Given the description of an element on the screen output the (x, y) to click on. 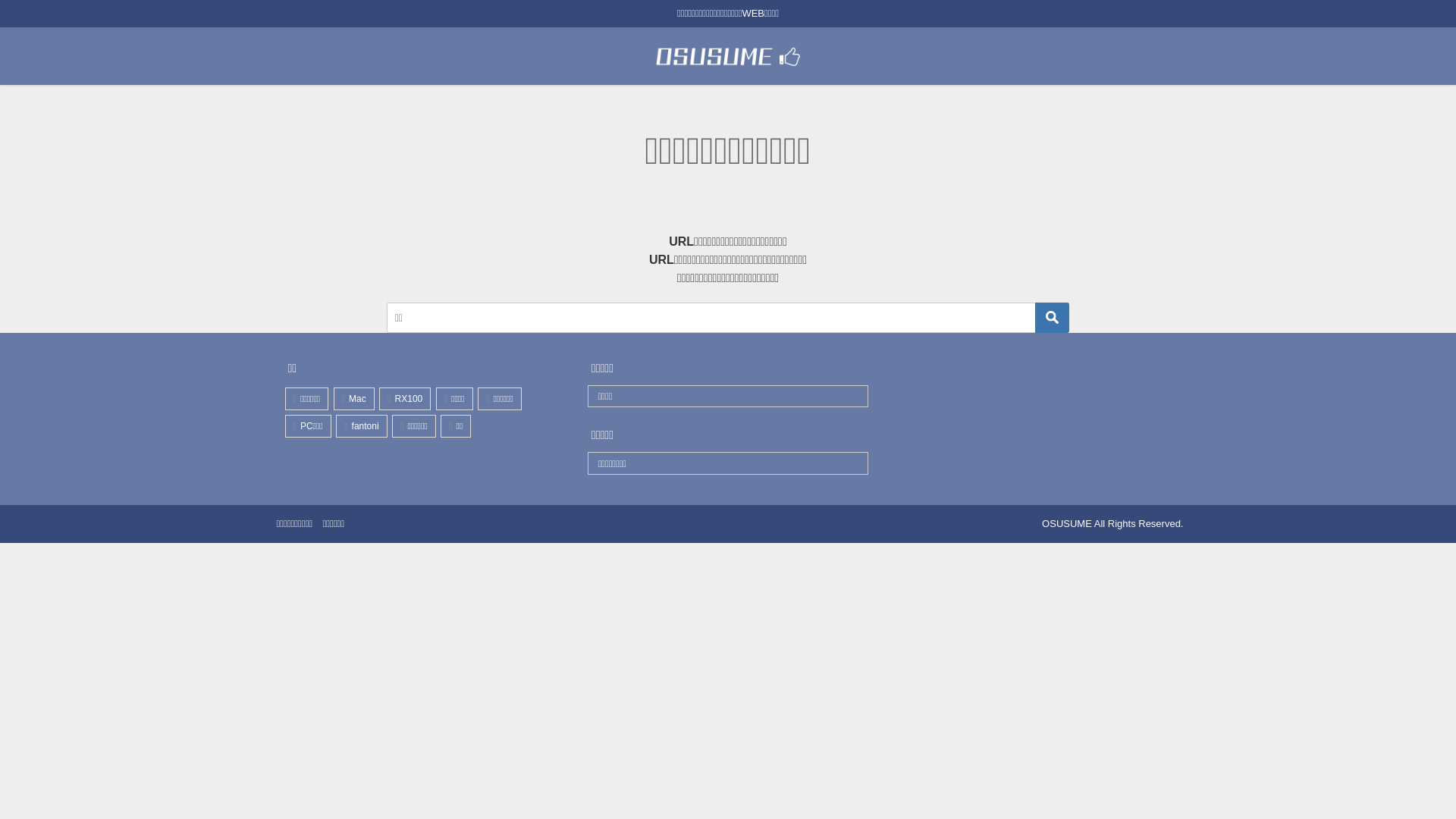
RX100 Element type: text (404, 397)
fantoni Element type: text (360, 425)
Mac Element type: text (353, 397)
